Given the description of an element on the screen output the (x, y) to click on. 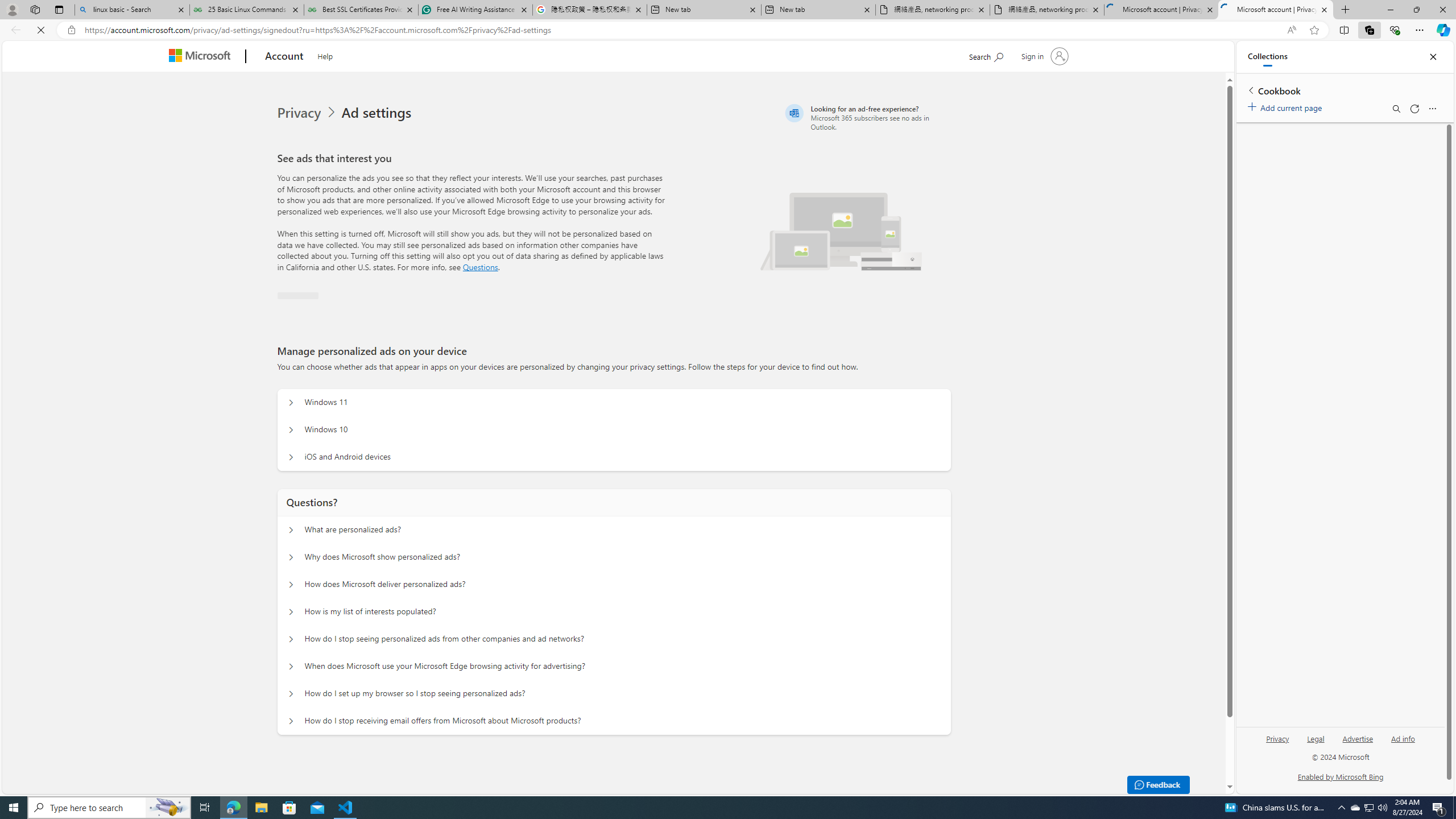
Contact us (946, 776)
Privacy & cookies (841, 776)
Best SSL Certificates Provider in India - GeeksforGeeks (360, 9)
Your Privacy Choices Opt-Out Icon Your Privacy Choices (302, 775)
Back to list of collections (1250, 90)
Search Microsoft.com (1007, 54)
